Given the description of an element on the screen output the (x, y) to click on. 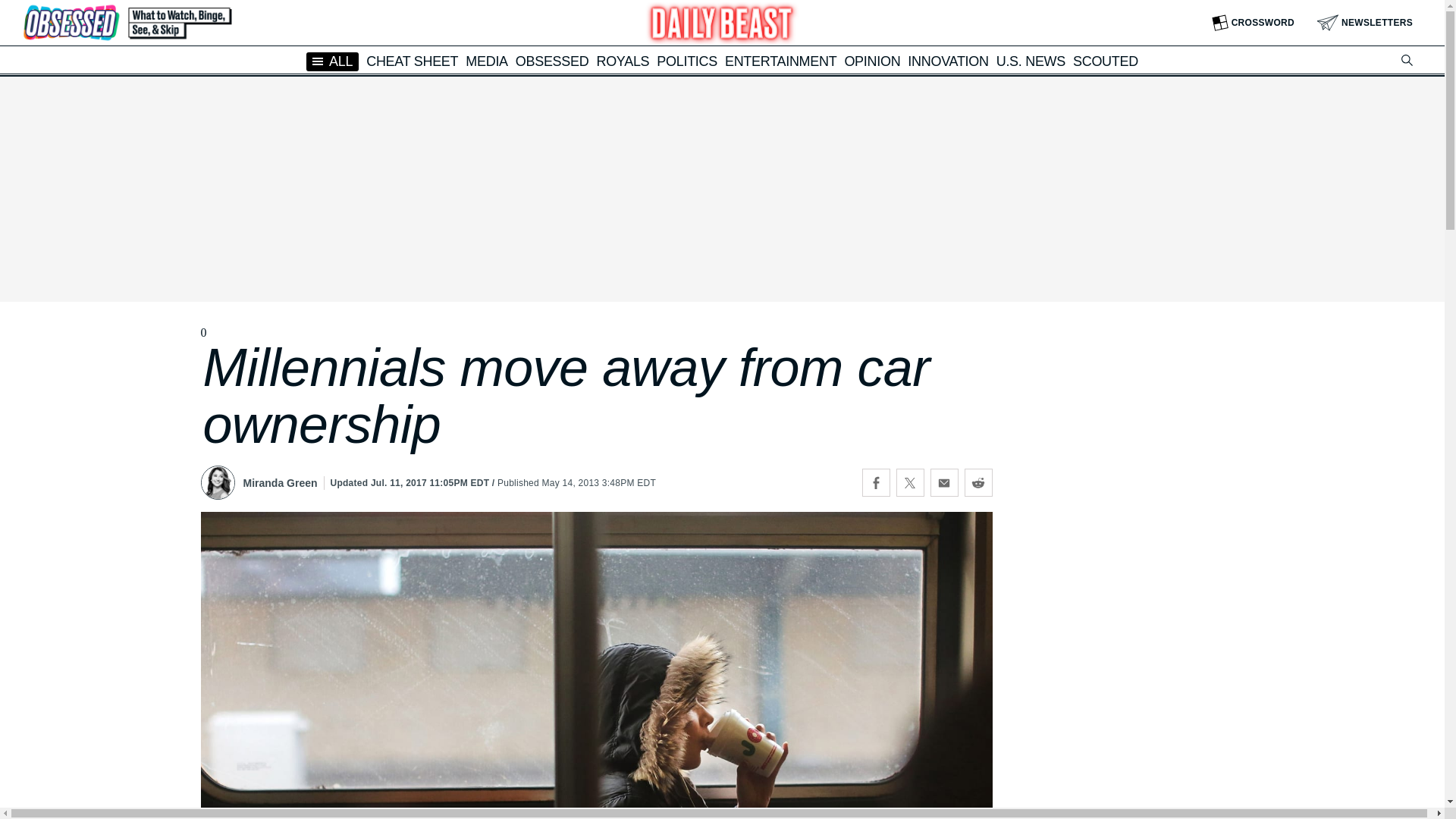
SCOUTED (1105, 60)
ROYALS (622, 60)
ALL (331, 60)
MEDIA (486, 60)
U.S. NEWS (1030, 60)
NEWSLETTERS (1364, 22)
OPINION (871, 60)
POLITICS (686, 60)
INNOVATION (947, 60)
CHEAT SHEET (412, 60)
